Given the description of an element on the screen output the (x, y) to click on. 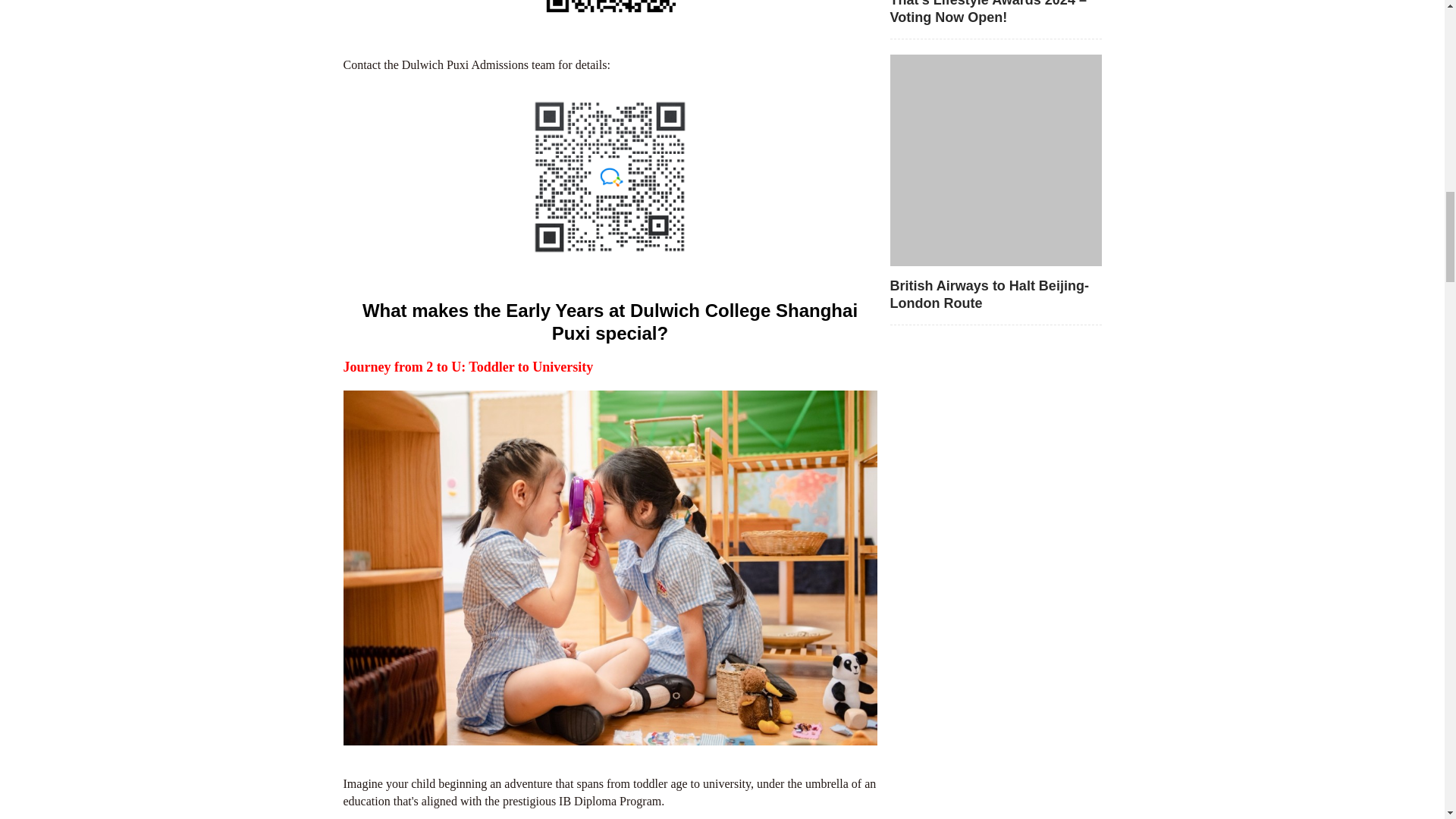
QR.png (609, 13)
Admissions.png (609, 177)
